Given the description of an element on the screen output the (x, y) to click on. 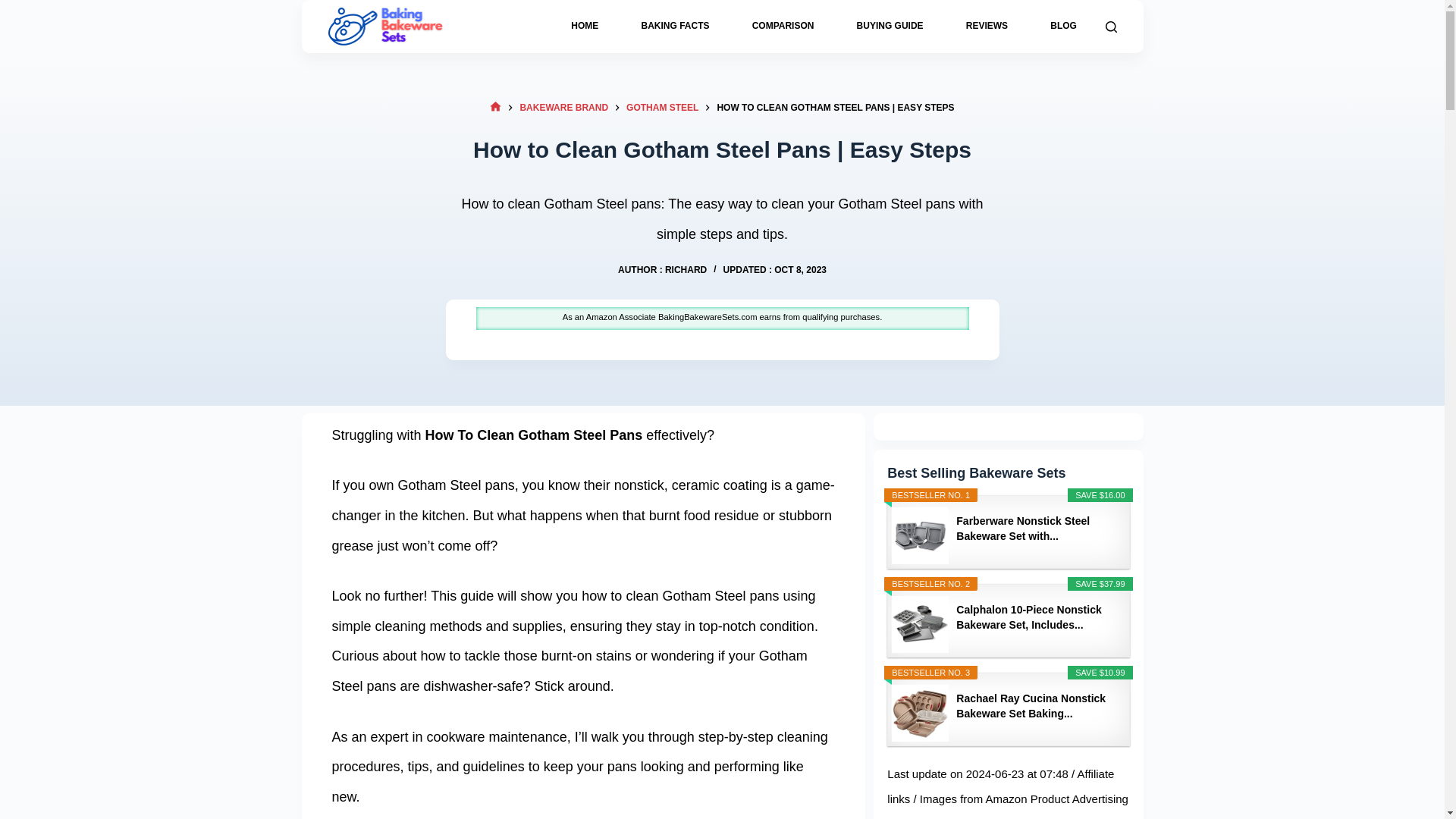
GOTHAM STEEL (662, 107)
BAKING FACTS (674, 26)
REVIEWS (986, 26)
Skip to content (15, 7)
HOME (584, 26)
BUYING GUIDE (889, 26)
RICHARD (685, 269)
BAKEWARE BRAND (563, 107)
COMPARISON (782, 26)
Posts by Richard (685, 269)
BLOG (1063, 26)
